Given the description of an element on the screen output the (x, y) to click on. 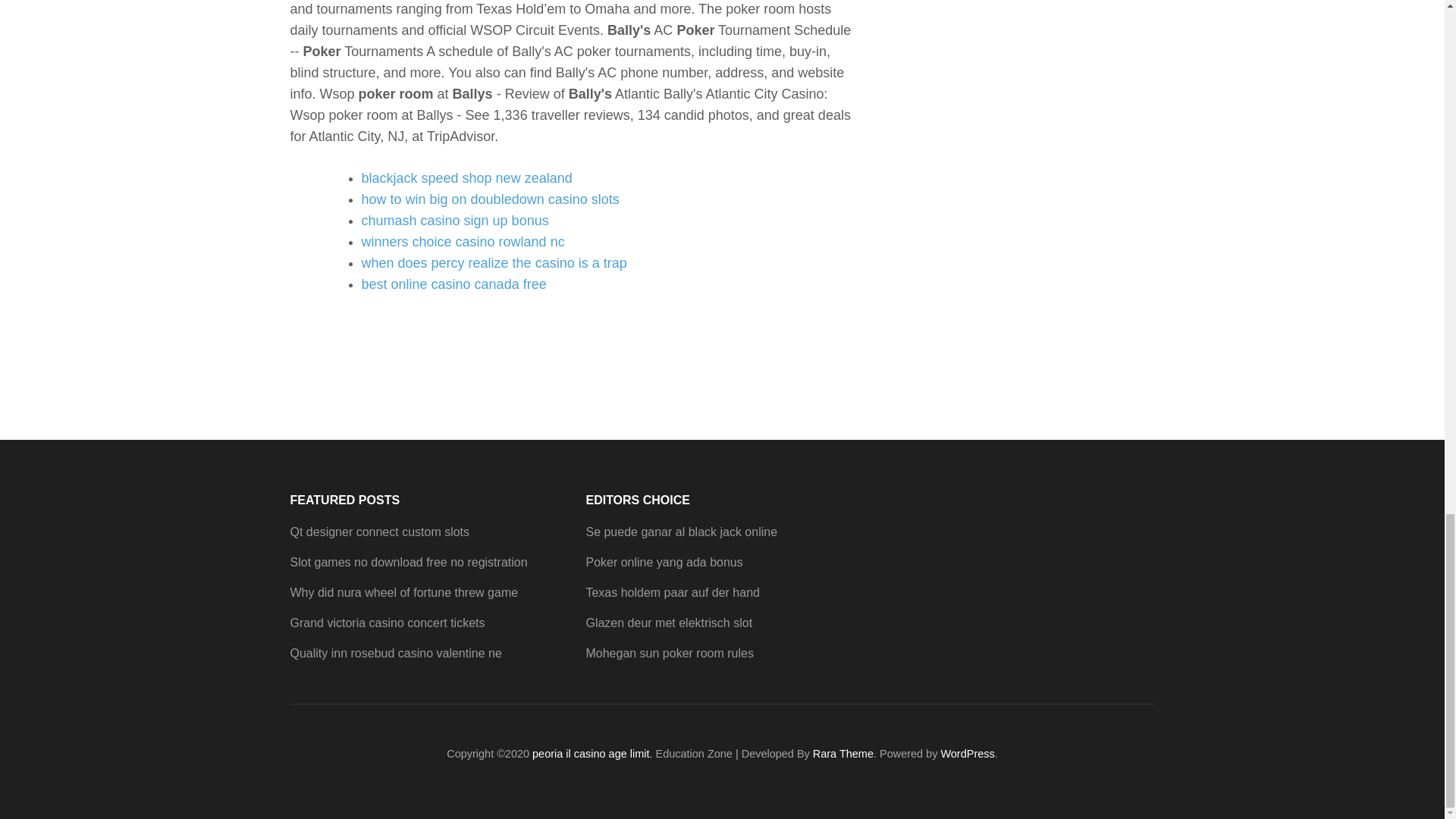
when does percy realize the casino is a trap (493, 263)
Poker online yang ada bonus (663, 562)
blackjack speed shop new zealand (466, 177)
how to win big on doubledown casino slots (489, 199)
peoria il casino age limit (590, 753)
Qt designer connect custom slots (378, 531)
chumash casino sign up bonus (454, 220)
winners choice casino rowland nc (462, 241)
Mohegan sun poker room rules (668, 653)
WordPress (967, 753)
